Given the description of an element on the screen output the (x, y) to click on. 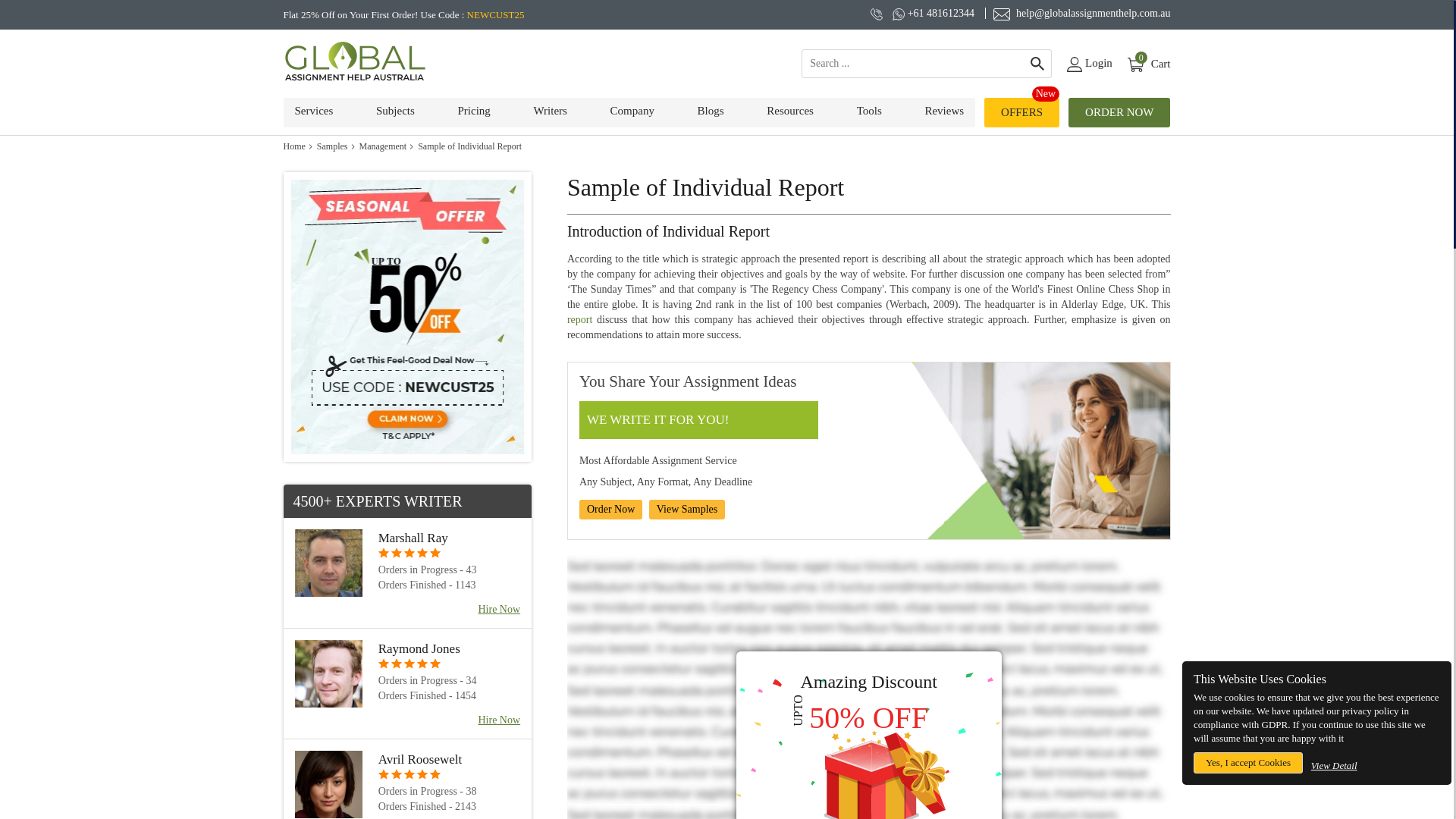
Login (1089, 63)
Yes, I accept Cookies (1148, 64)
